Given the description of an element on the screen output the (x, y) to click on. 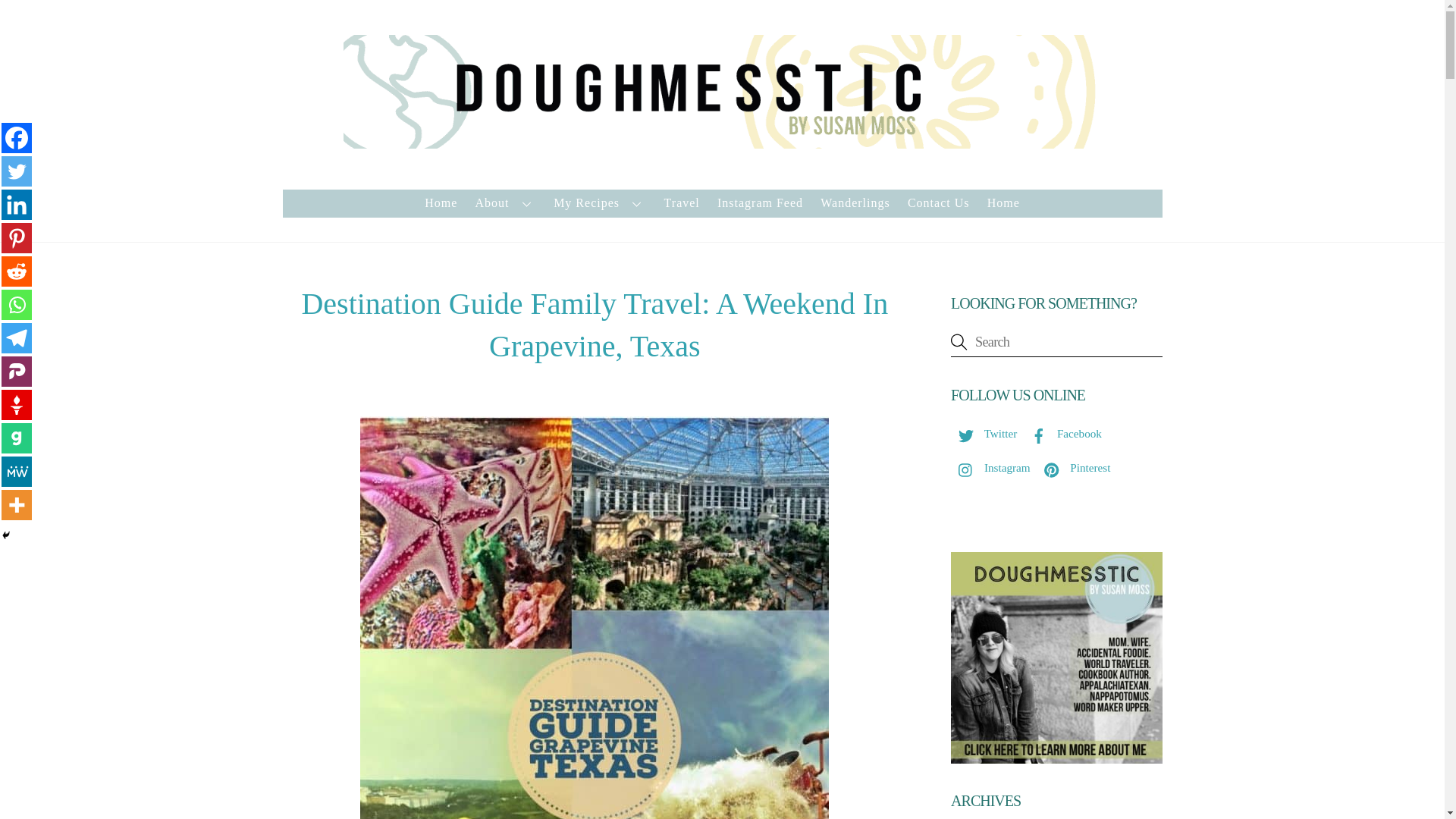
Home (440, 203)
About (505, 203)
Instagram Feed (759, 203)
Contact Us (937, 203)
My Recipes (600, 203)
Travel (681, 203)
Home (1002, 203)
Wanderlings (855, 203)
Doughmesstic (721, 141)
